Given the description of an element on the screen output the (x, y) to click on. 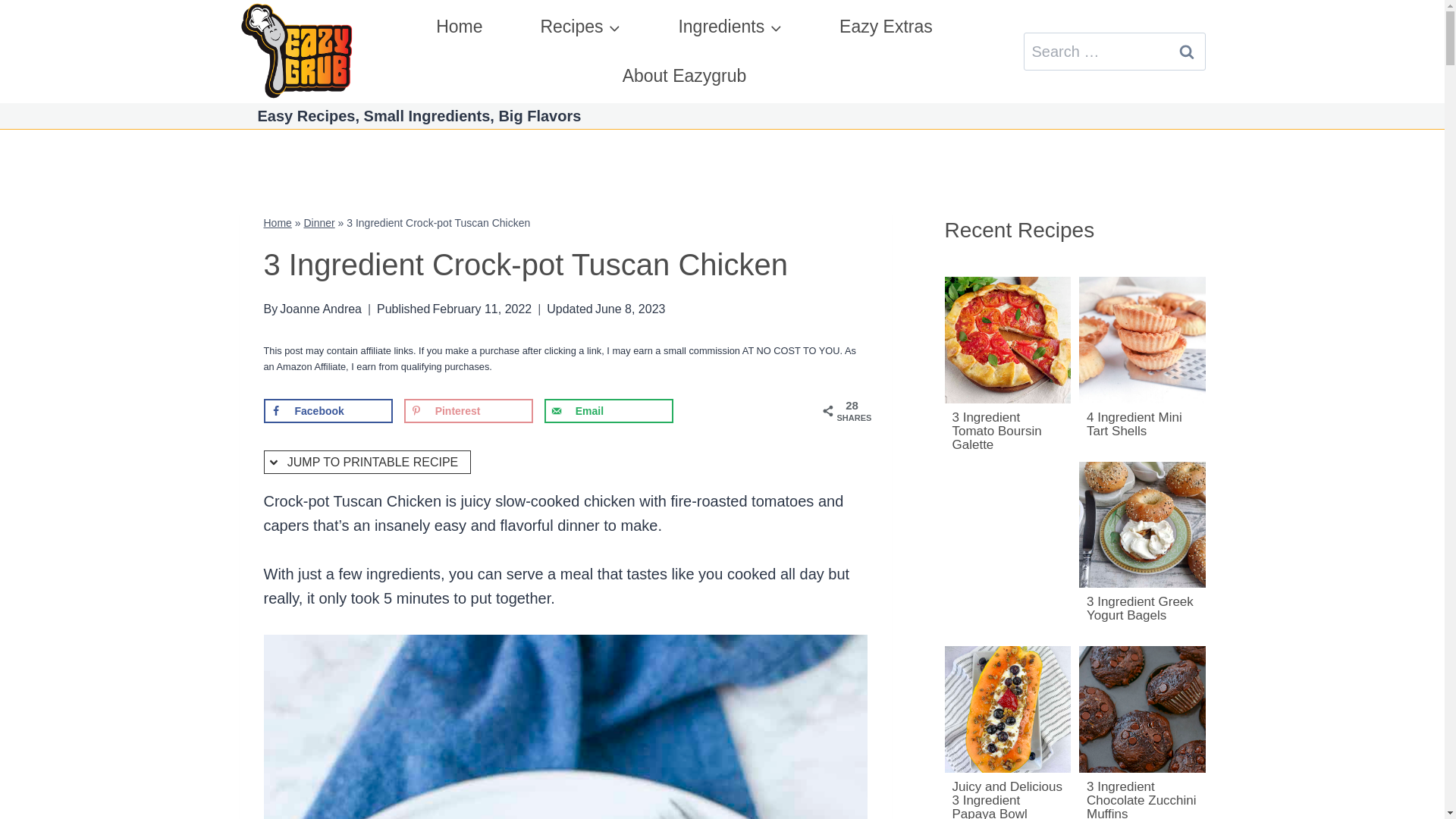
Send over email (609, 410)
Dinner (318, 223)
Save to Pinterest (469, 410)
Facebook (328, 410)
Joanne Andrea (320, 308)
Home (277, 223)
Search (1186, 51)
Search (1186, 51)
Home (459, 27)
Share on Facebook (328, 410)
